Given the description of an element on the screen output the (x, y) to click on. 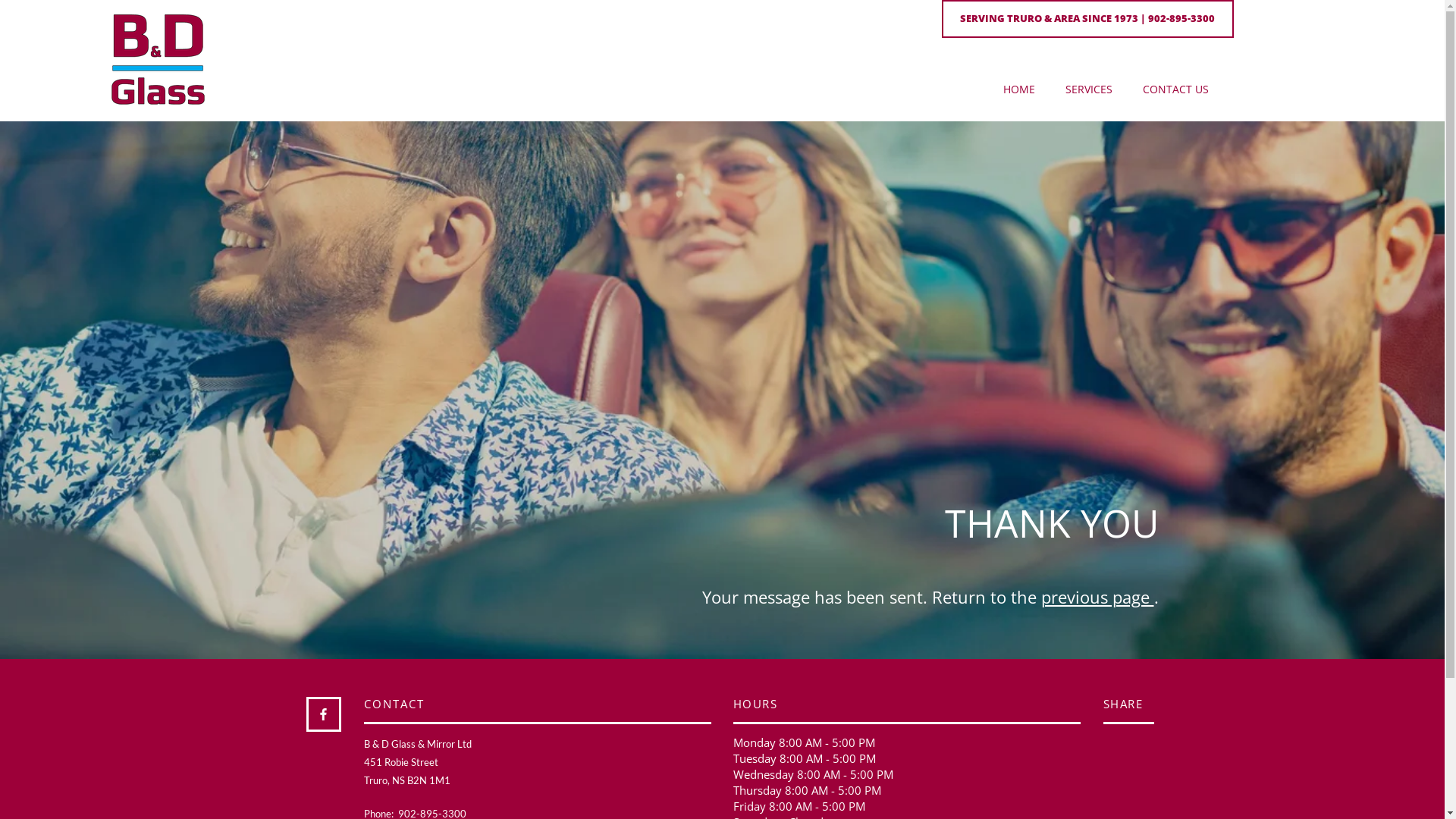
SERVING TRURO & AREA SINCE 1973 | 902-895-3300 Element type: text (1087, 18)
CONTACT US Element type: text (1175, 88)
Embedded Content Element type: hover (1136, 771)
Embedded Content Element type: hover (1138, 748)
SERVICES Element type: text (1088, 88)
HOME Element type: text (1019, 88)
previous page Element type: text (1096, 596)
